Given the description of an element on the screen output the (x, y) to click on. 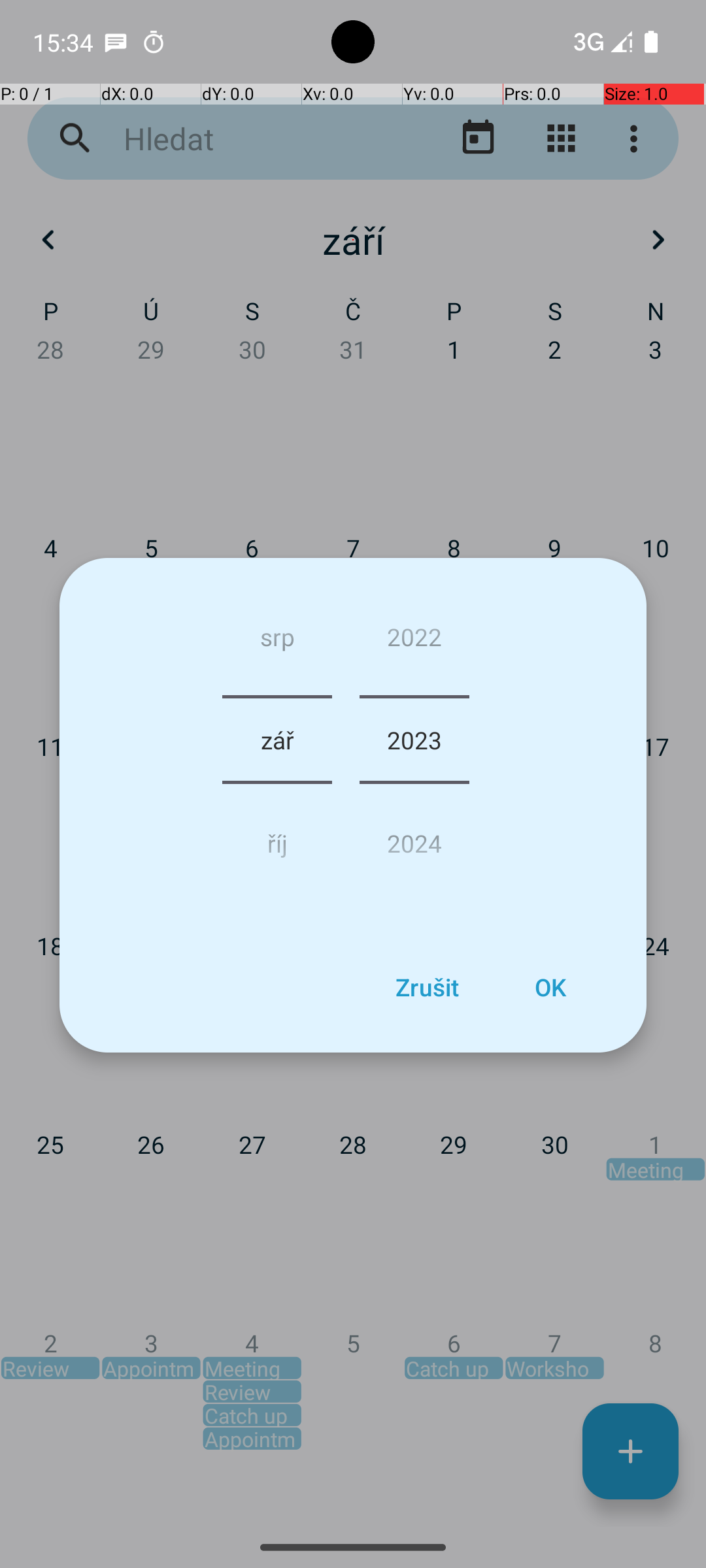
Zrušit Element type: android.widget.Button (426, 987)
srp Element type: android.widget.Button (277, 641)
zář Element type: android.widget.EditText (277, 739)
říj Element type: android.widget.Button (277, 837)
